Given the description of an element on the screen output the (x, y) to click on. 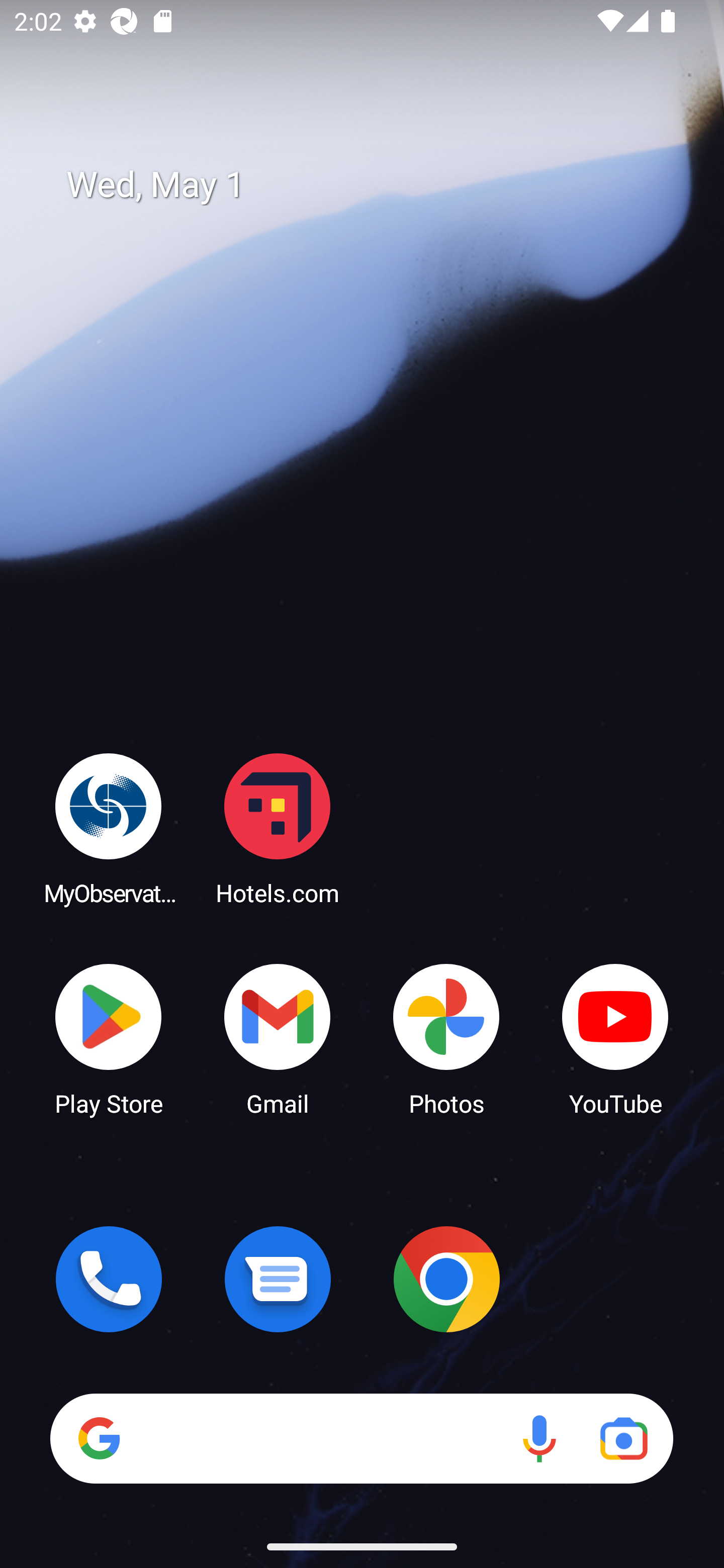
Wed, May 1 (375, 184)
MyObservatory (108, 828)
Hotels.com (277, 828)
Play Store (108, 1038)
Gmail (277, 1038)
Photos (445, 1038)
YouTube (615, 1038)
Phone (108, 1279)
Messages (277, 1279)
Chrome (446, 1279)
Search Voice search Google Lens (361, 1438)
Voice search (539, 1438)
Google Lens (623, 1438)
